Given the description of an element on the screen output the (x, y) to click on. 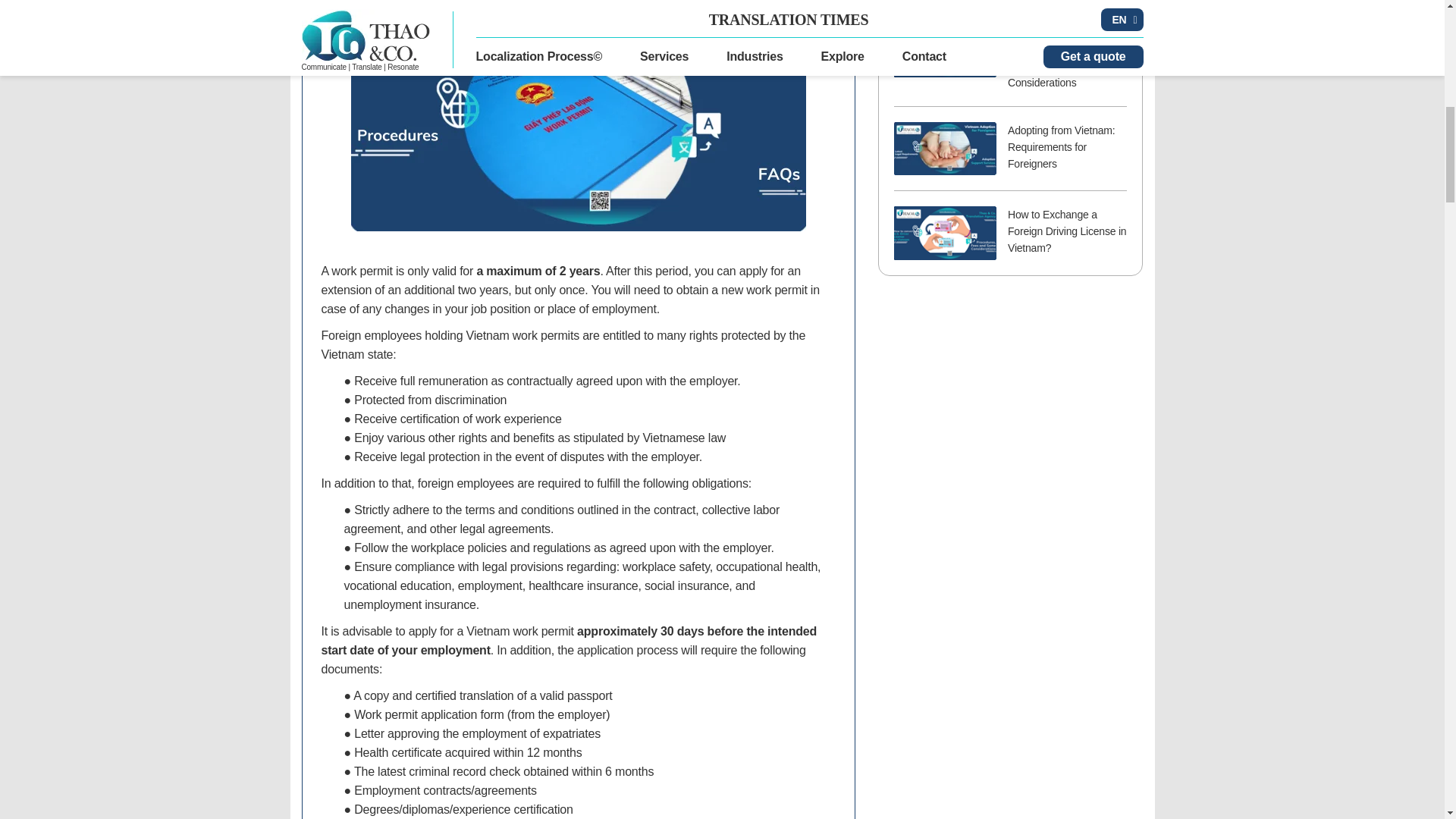
How to Exchange a Foreign Driving License in Vietnam? (944, 233)
Adopting from Vietnam: Requirements for Foreigners (944, 149)
